Given the description of an element on the screen output the (x, y) to click on. 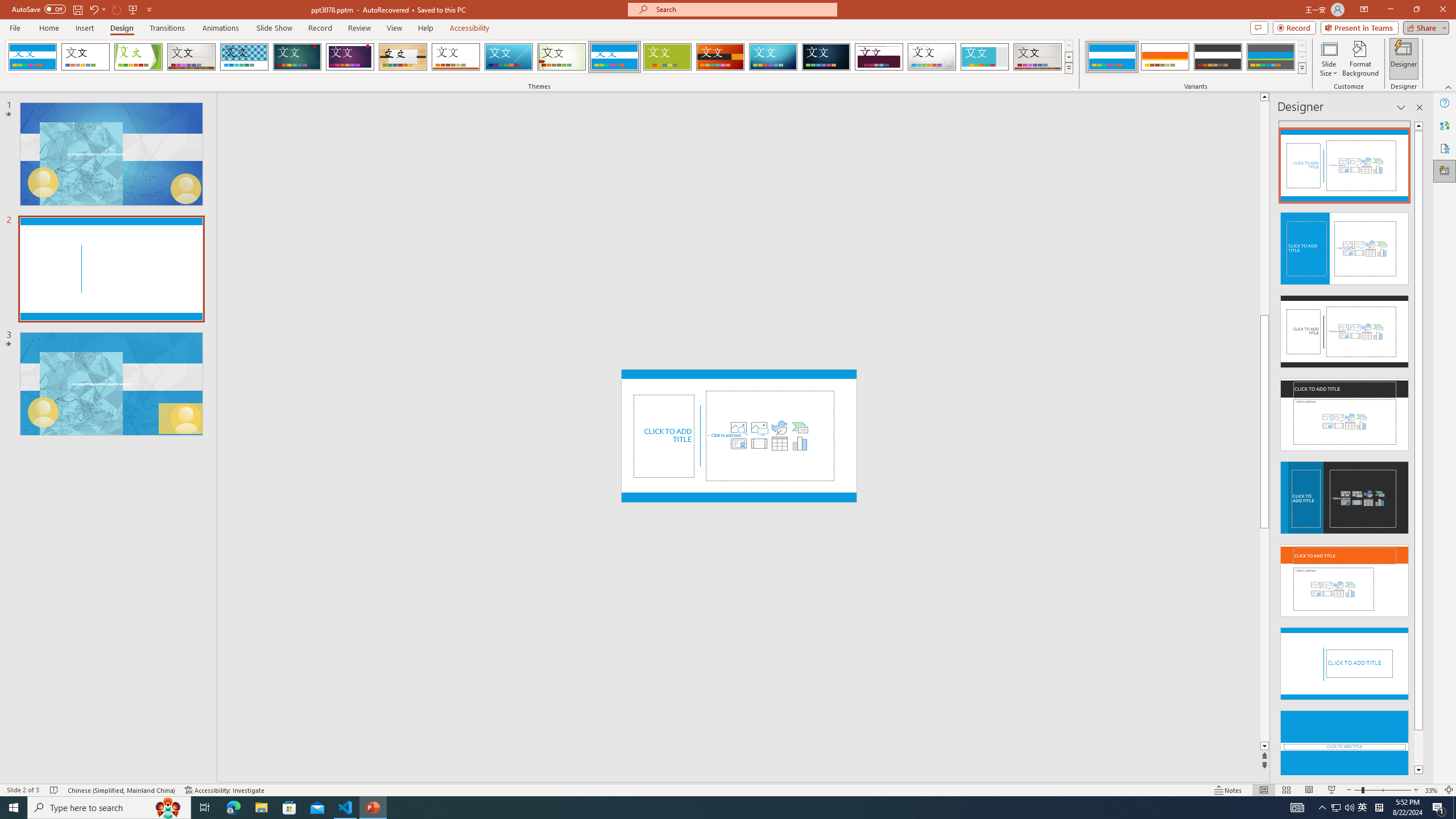
Content Placeholder (770, 435)
